Given the description of an element on the screen output the (x, y) to click on. 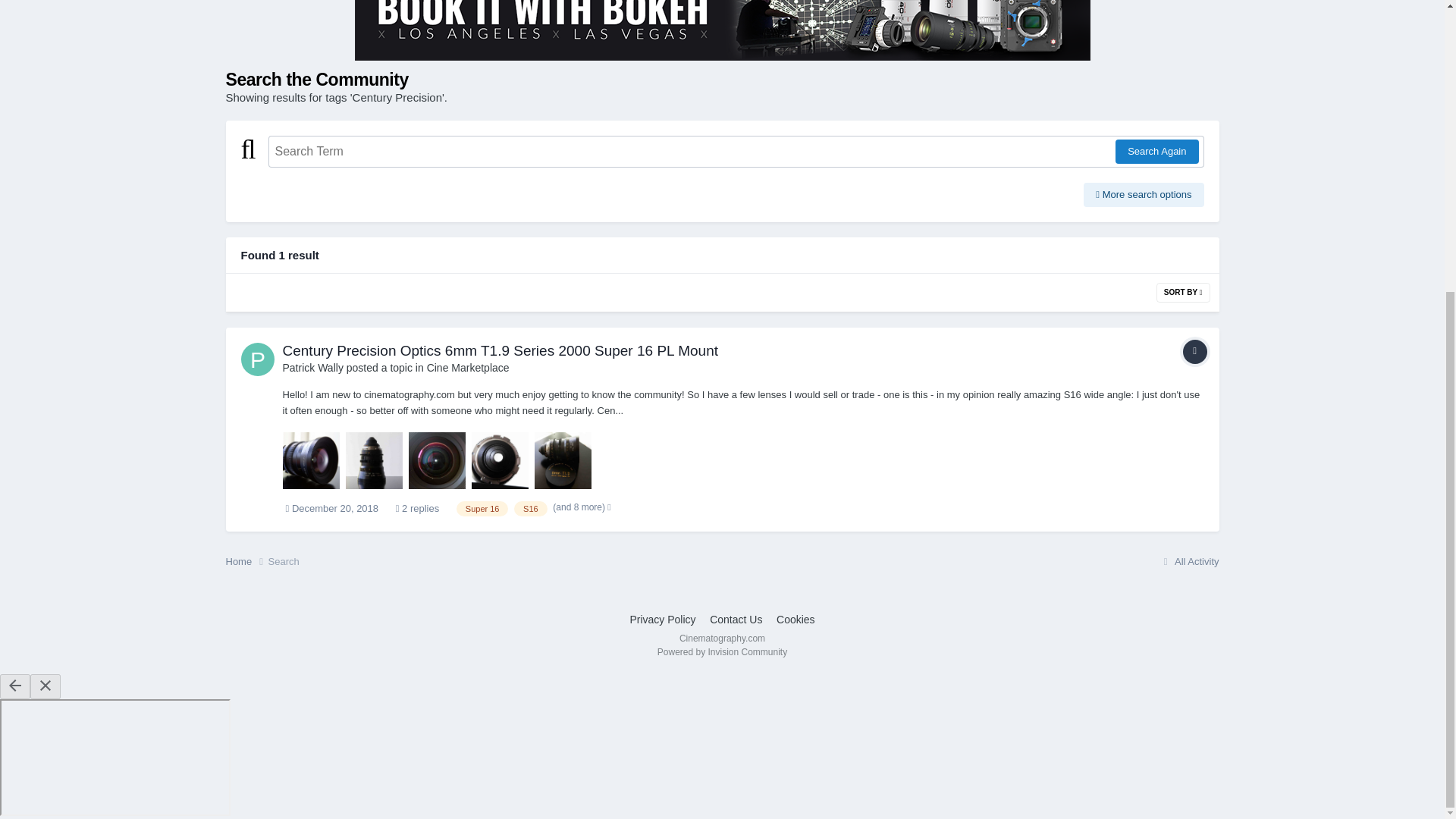
Go to Patrick Wally's profile (258, 359)
Find other content tagged with 'S16' (530, 508)
Find other content tagged with 'Super 16' (482, 508)
Topic (1194, 351)
Go to Patrick Wally's profile (312, 367)
